Given the description of an element on the screen output the (x, y) to click on. 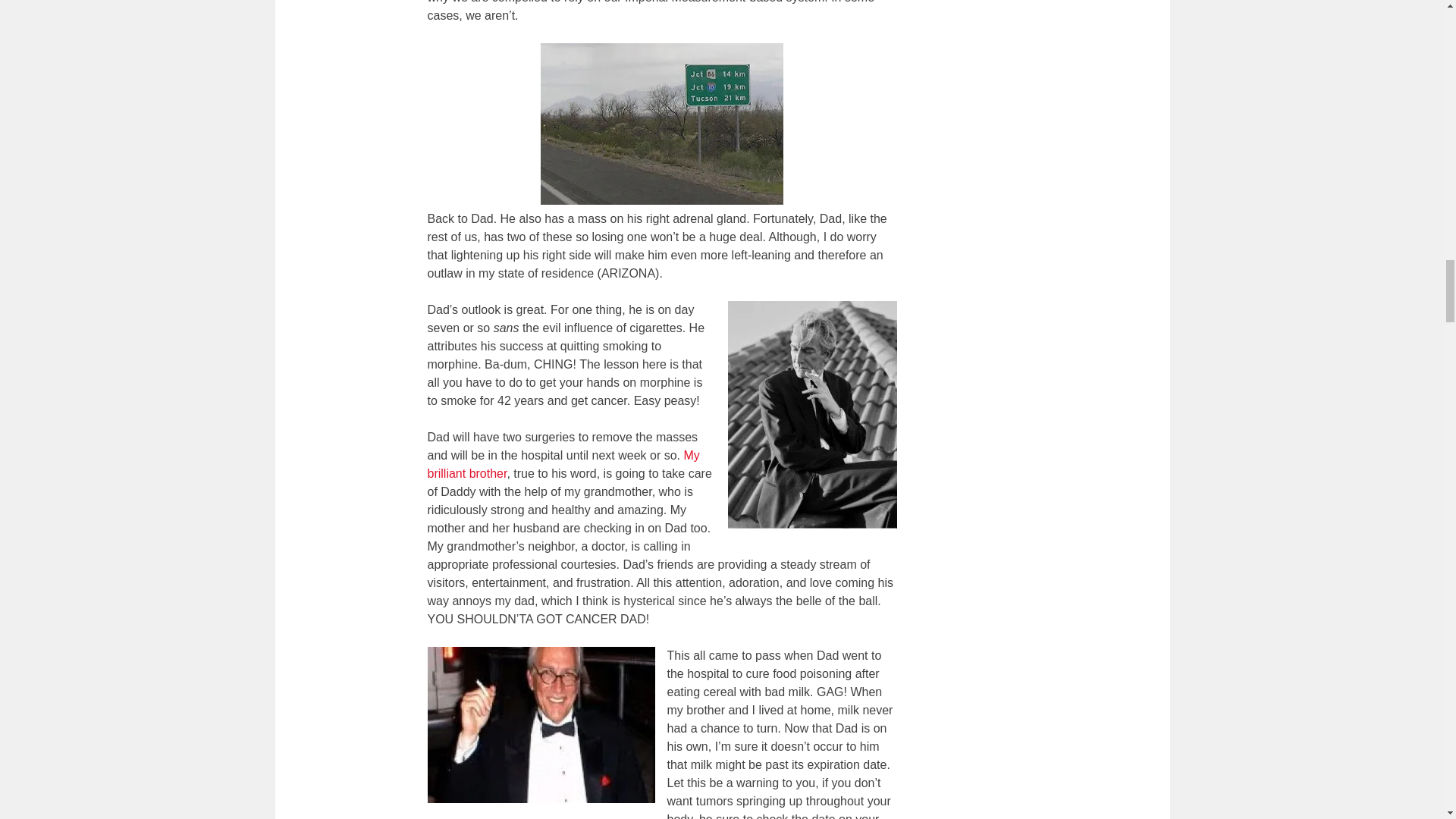
My brilliant brother (564, 463)
